Given the description of an element on the screen output the (x, y) to click on. 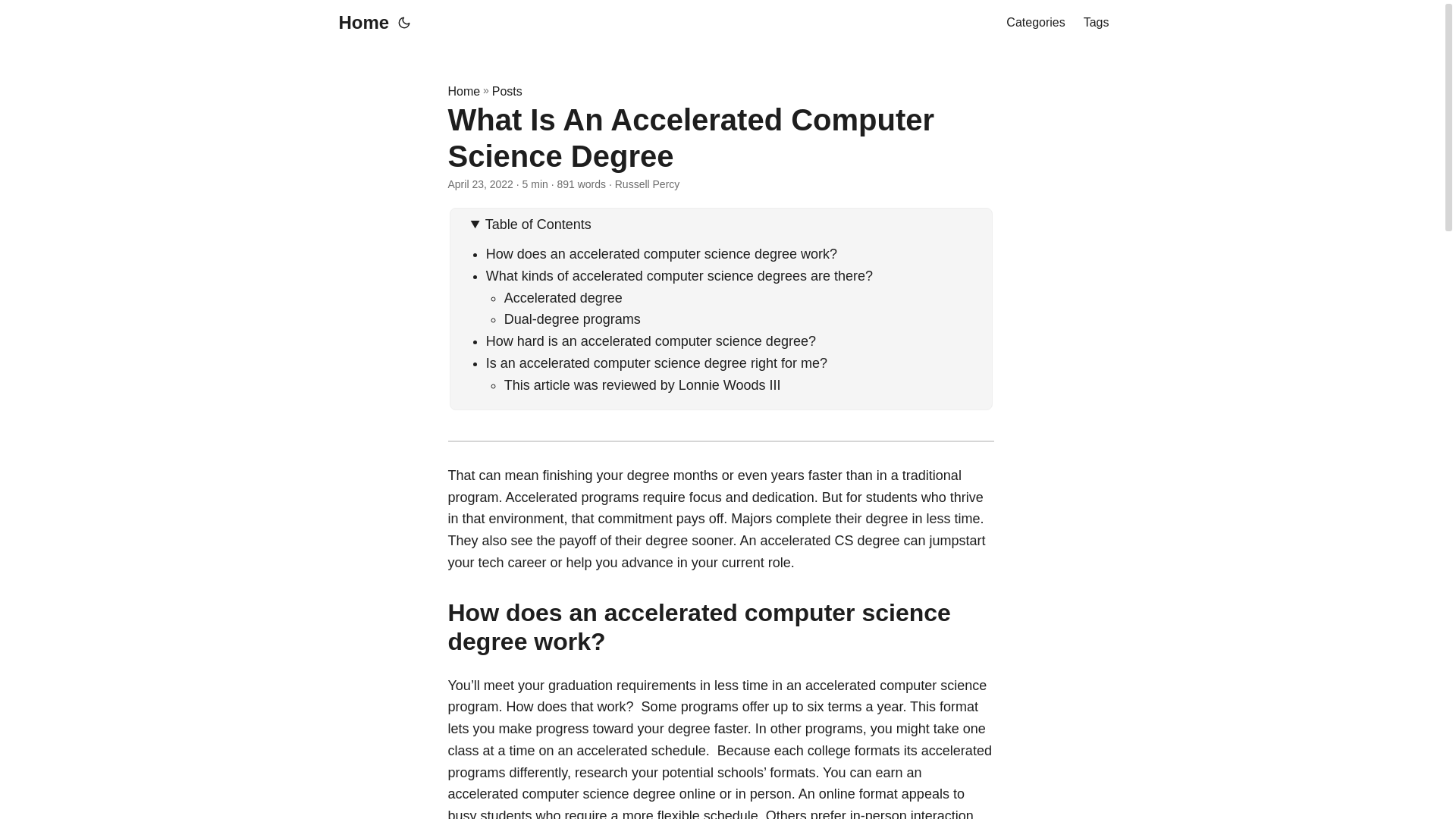
Home (359, 22)
Categories (1035, 22)
Dual-degree programs (571, 319)
How hard is an accelerated computer science degree? (650, 340)
Is an accelerated computer science degree right for me? (656, 363)
This article was reviewed by Lonnie Woods III (641, 385)
Categories (1035, 22)
Posts (507, 91)
Home (463, 91)
